Given the description of an element on the screen output the (x, y) to click on. 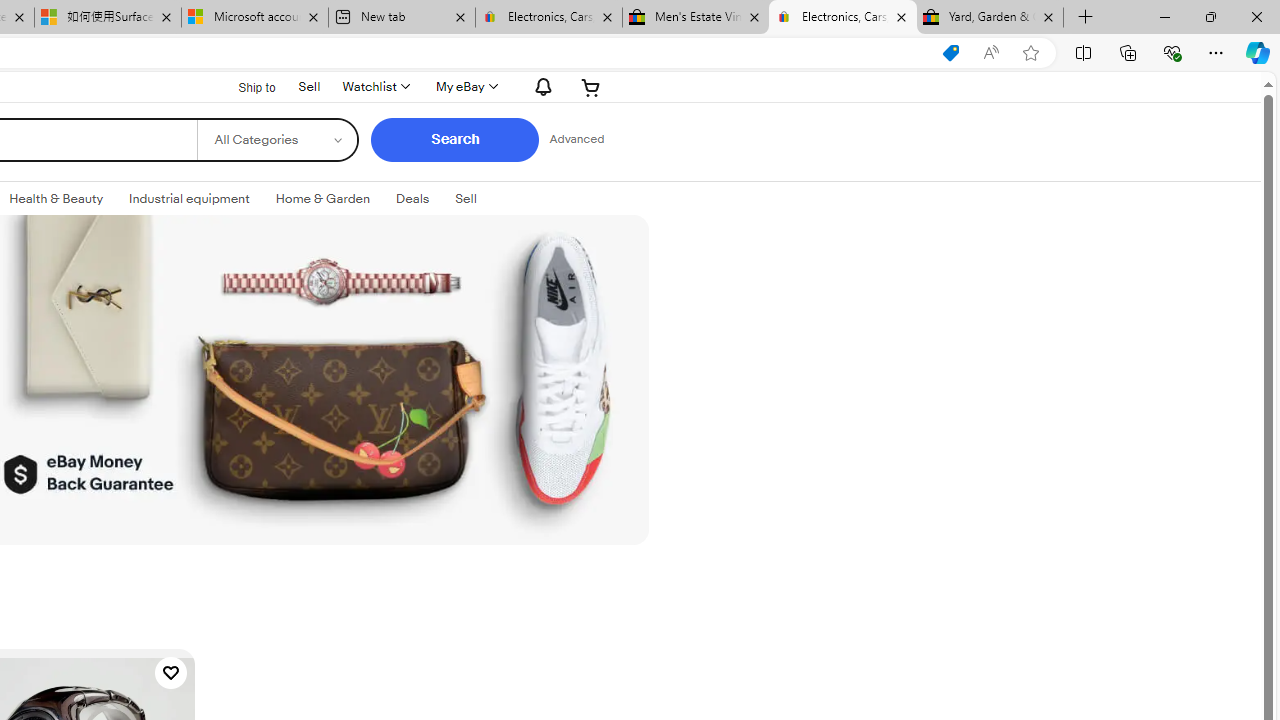
Health & Beauty (55, 198)
Home & GardenExpand: Home & Garden (323, 199)
Ship to (244, 87)
Watchlist (374, 86)
My eBayExpand My eBay (464, 86)
Deals (412, 198)
Deals (412, 199)
Yard, Garden & Outdoor Living (989, 17)
